Given the description of an element on the screen output the (x, y) to click on. 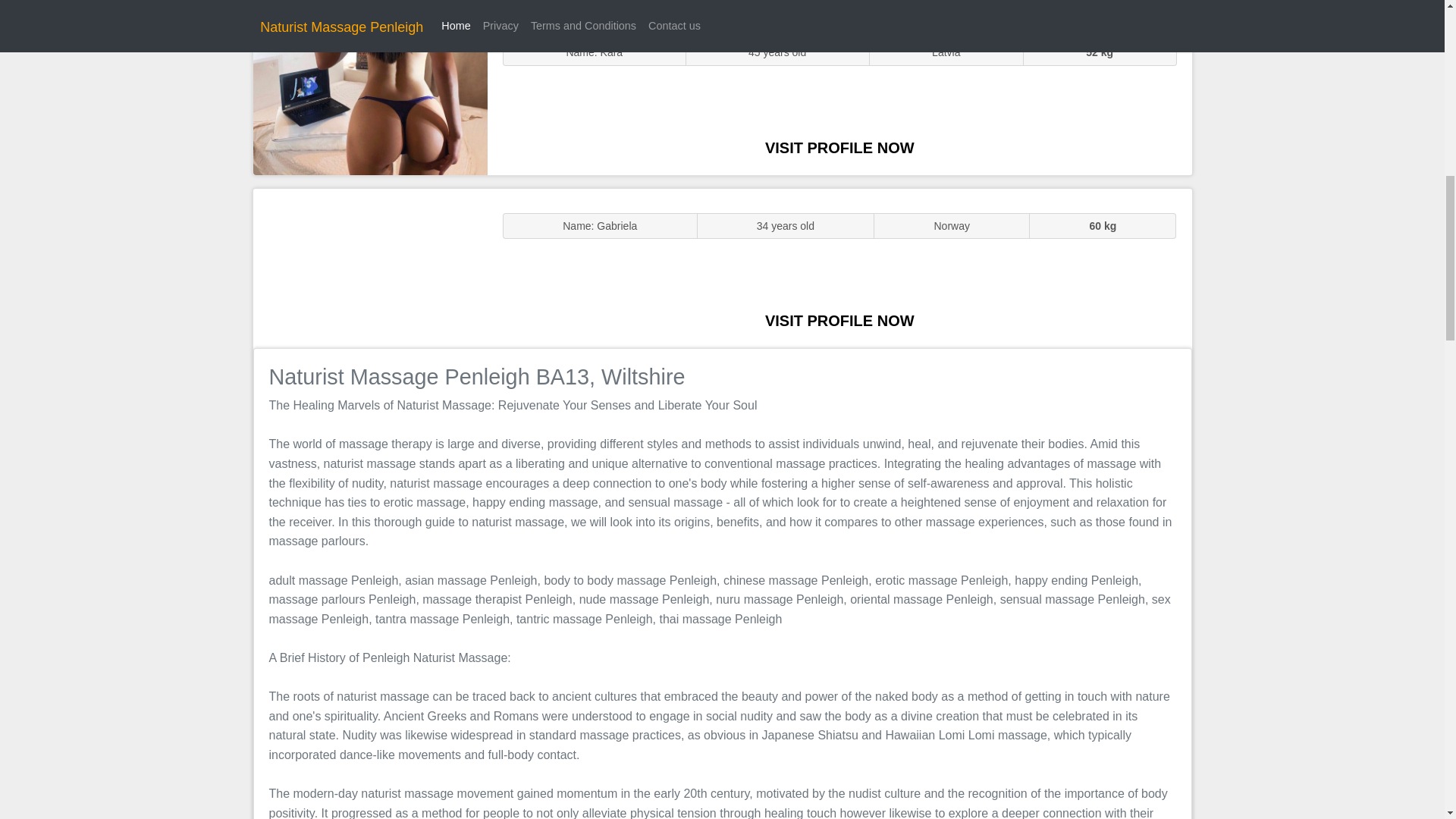
VISIT PROFILE NOW (839, 147)
Massage (370, 267)
Sluts (370, 94)
VISIT PROFILE NOW (839, 320)
